Given the description of an element on the screen output the (x, y) to click on. 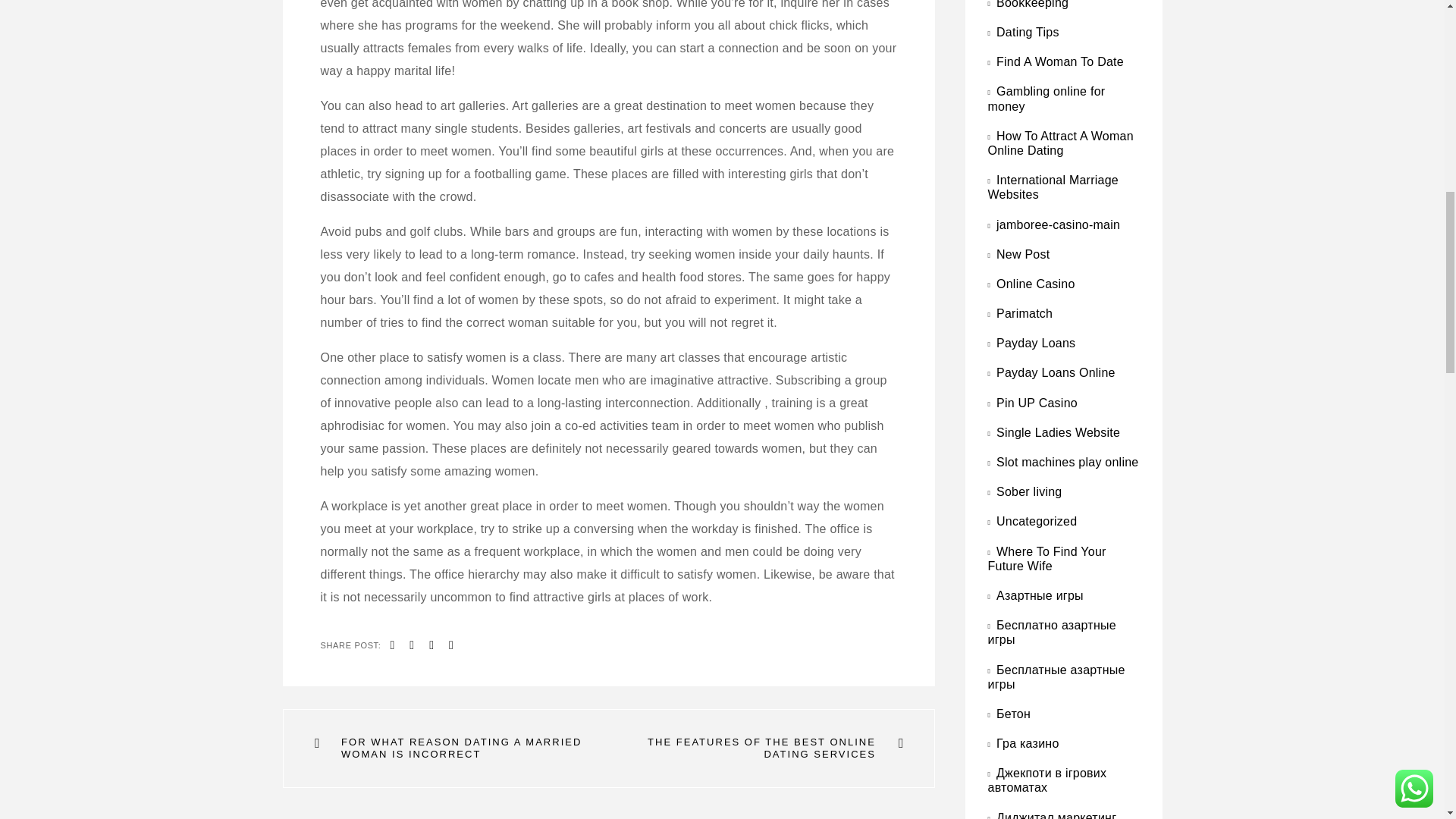
Share on Facebook (392, 645)
FOR WHAT REASON DATING A MARRIED WOMAN IS INCORRECT (461, 748)
Share on Twitter (411, 645)
Pin on Pinterest (431, 645)
